Given the description of an element on the screen output the (x, y) to click on. 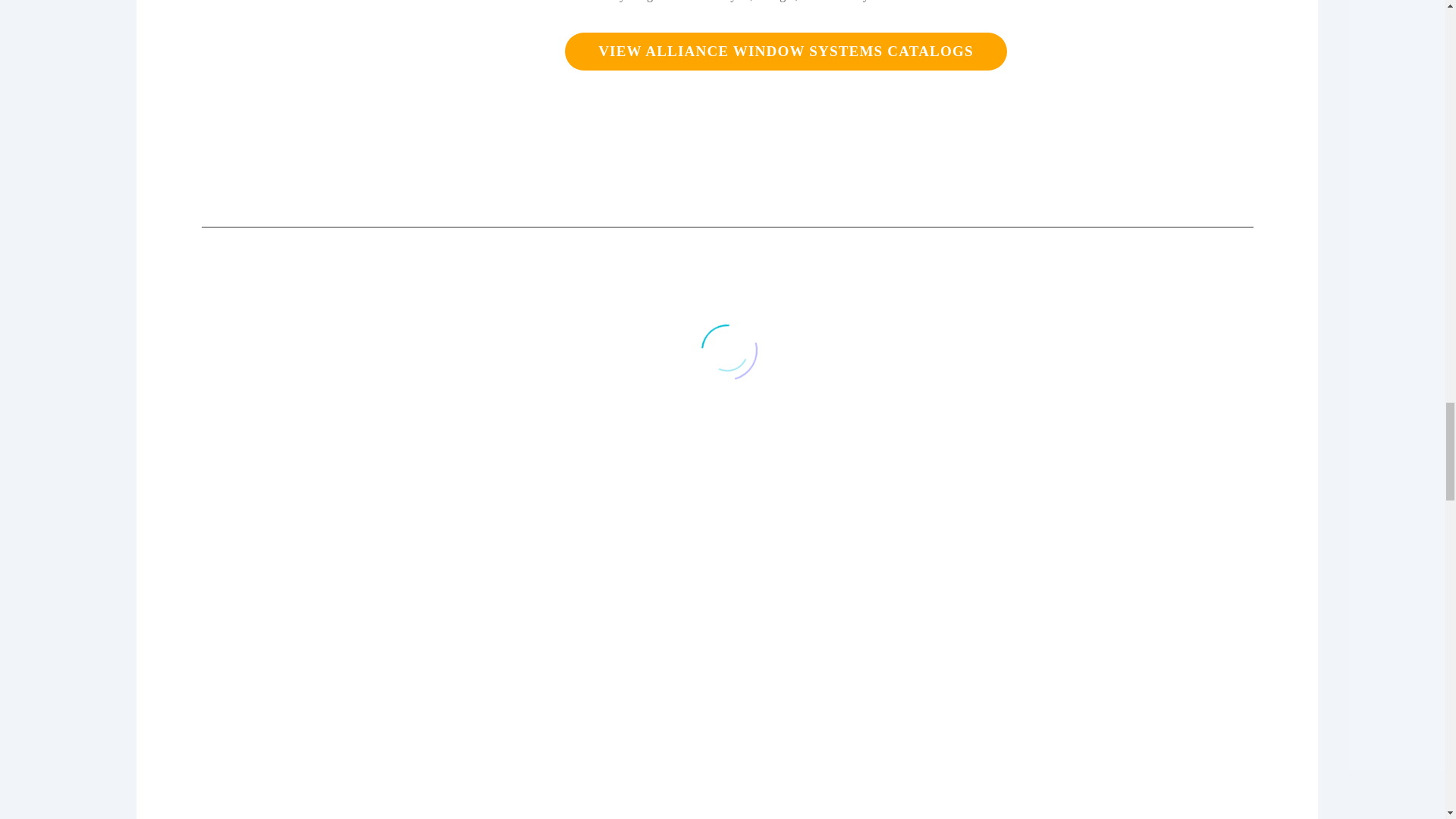
View Alliance Window Systems Catalogs (785, 51)
